Given the description of an element on the screen output the (x, y) to click on. 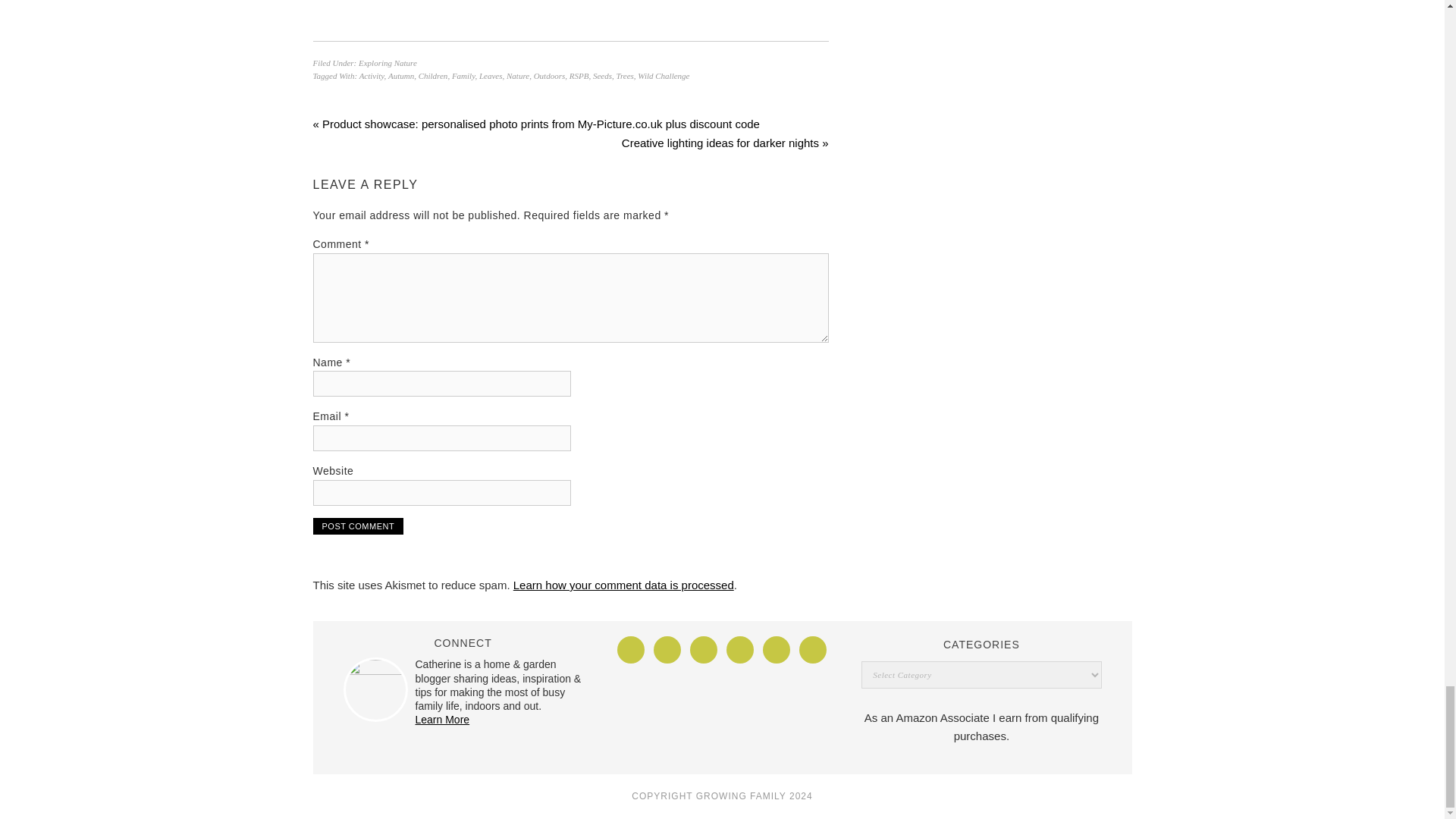
Post Comment (358, 525)
